Given the description of an element on the screen output the (x, y) to click on. 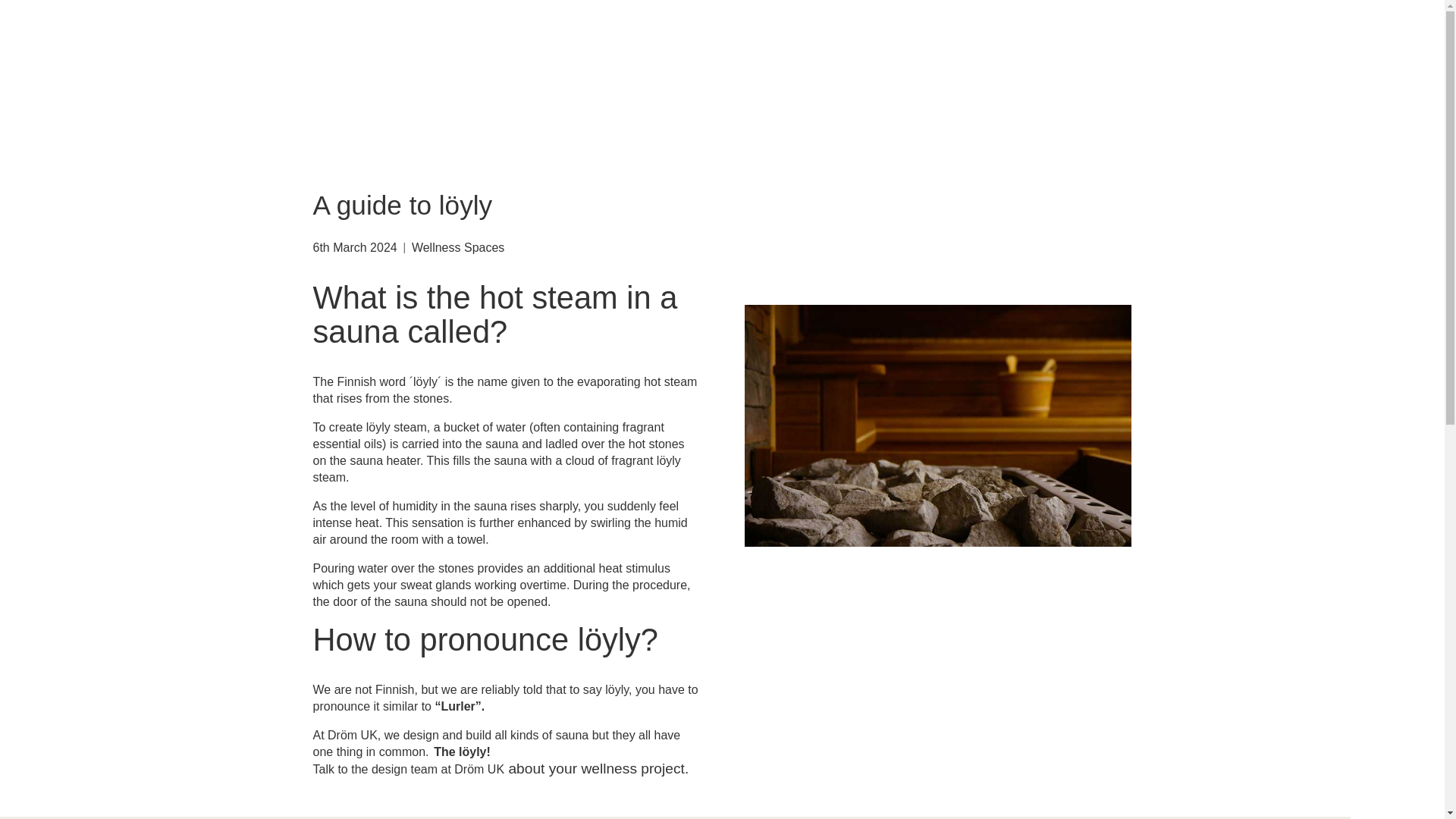
Wellness Spaces (457, 246)
loyly (937, 425)
